Given the description of an element on the screen output the (x, y) to click on. 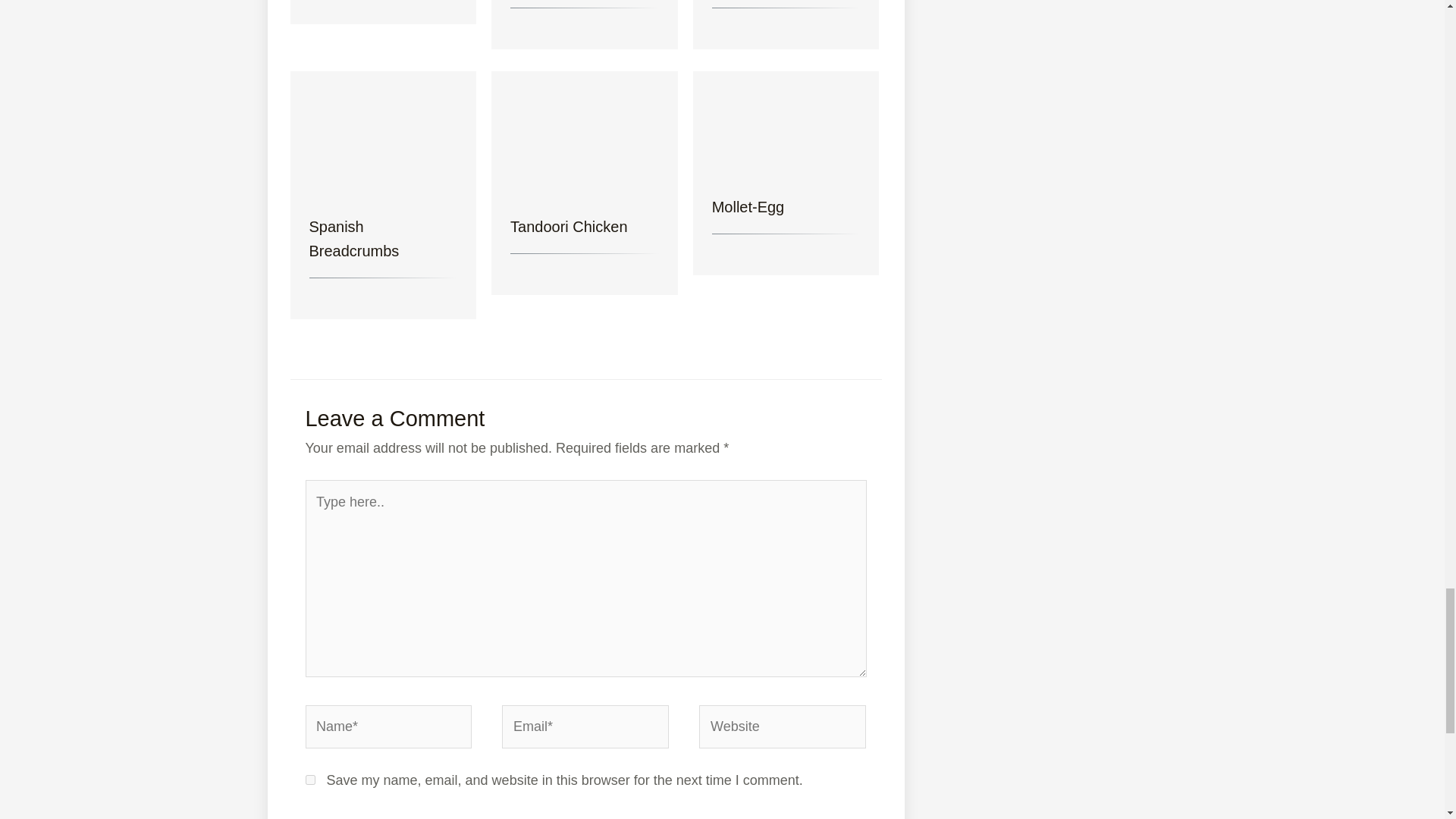
yes (309, 779)
